Given the description of an element on the screen output the (x, y) to click on. 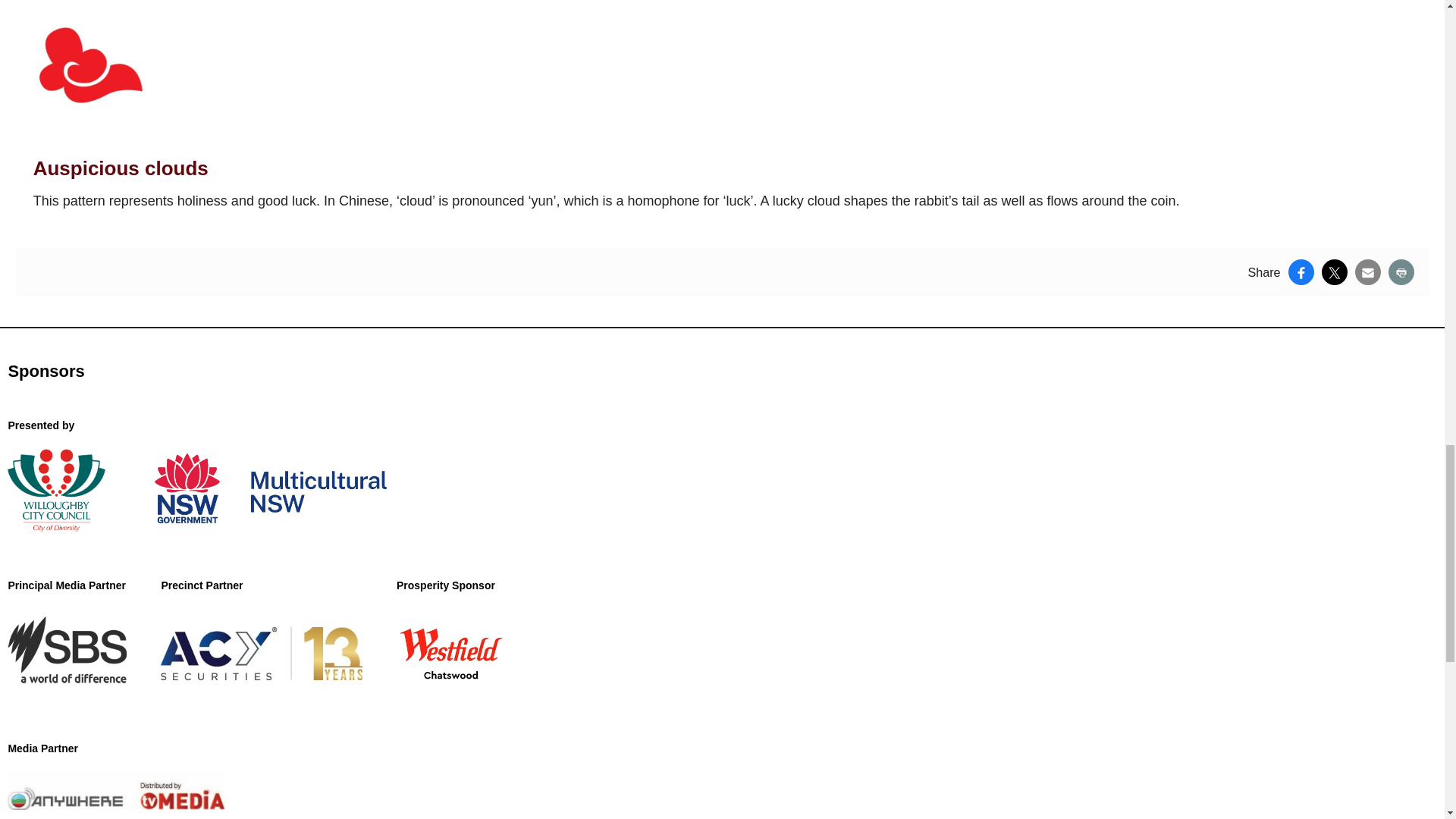
Westfield Chatswood (450, 653)
SBS (66, 653)
TVB Anywhere - TV Media  (116, 790)
ACY Securities (261, 653)
